Given the description of an element on the screen output the (x, y) to click on. 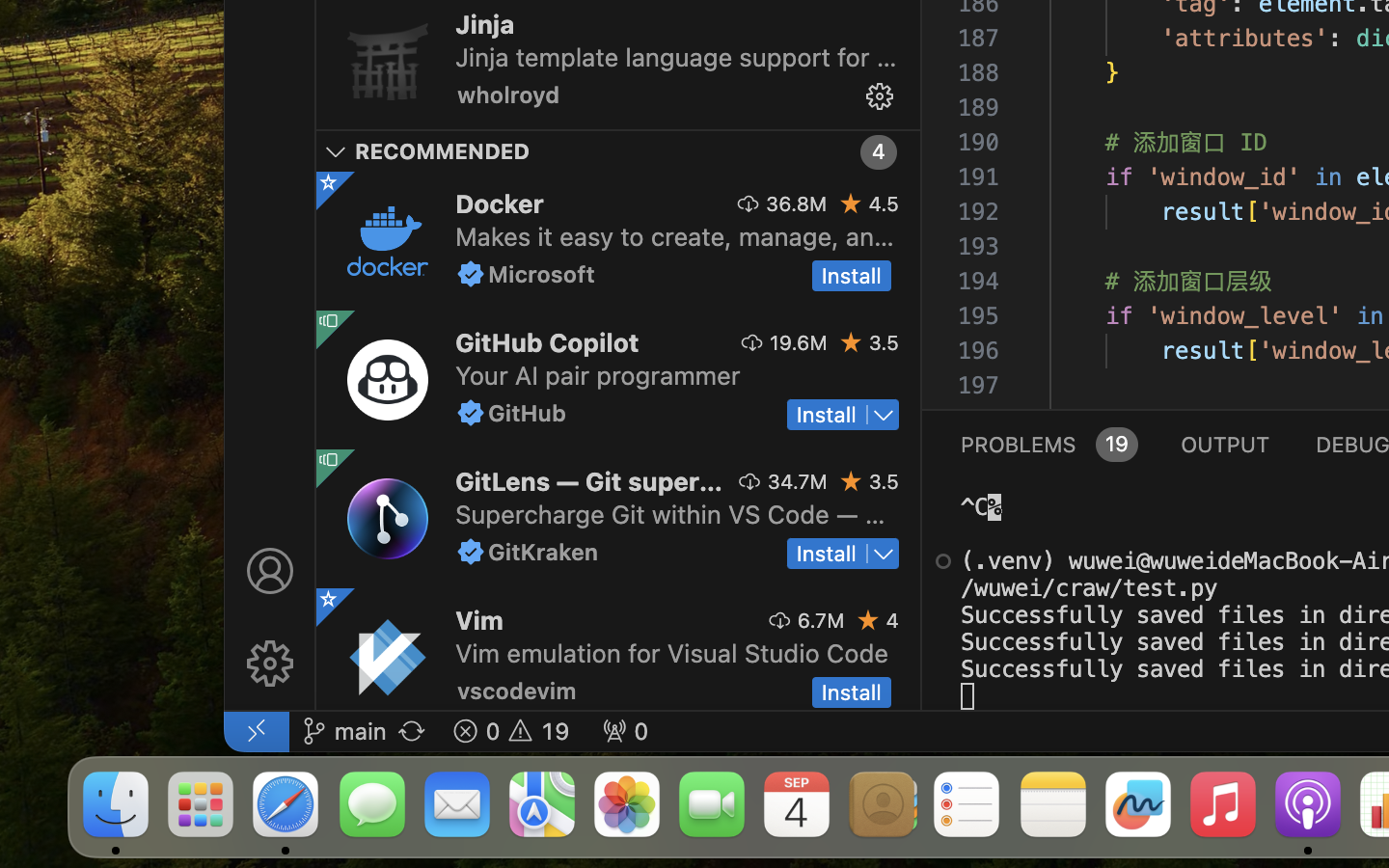
0 PROBLEMS 19 Element type: AXRadioButton (1048, 443)
3.5 Element type: AXStaticText (883, 480)
19  0  Element type: AXButton (510, 730)
Microsoft Element type: AXStaticText (542, 273)
 Element type: AXStaticText (269, 570)
